Given the description of an element on the screen output the (x, y) to click on. 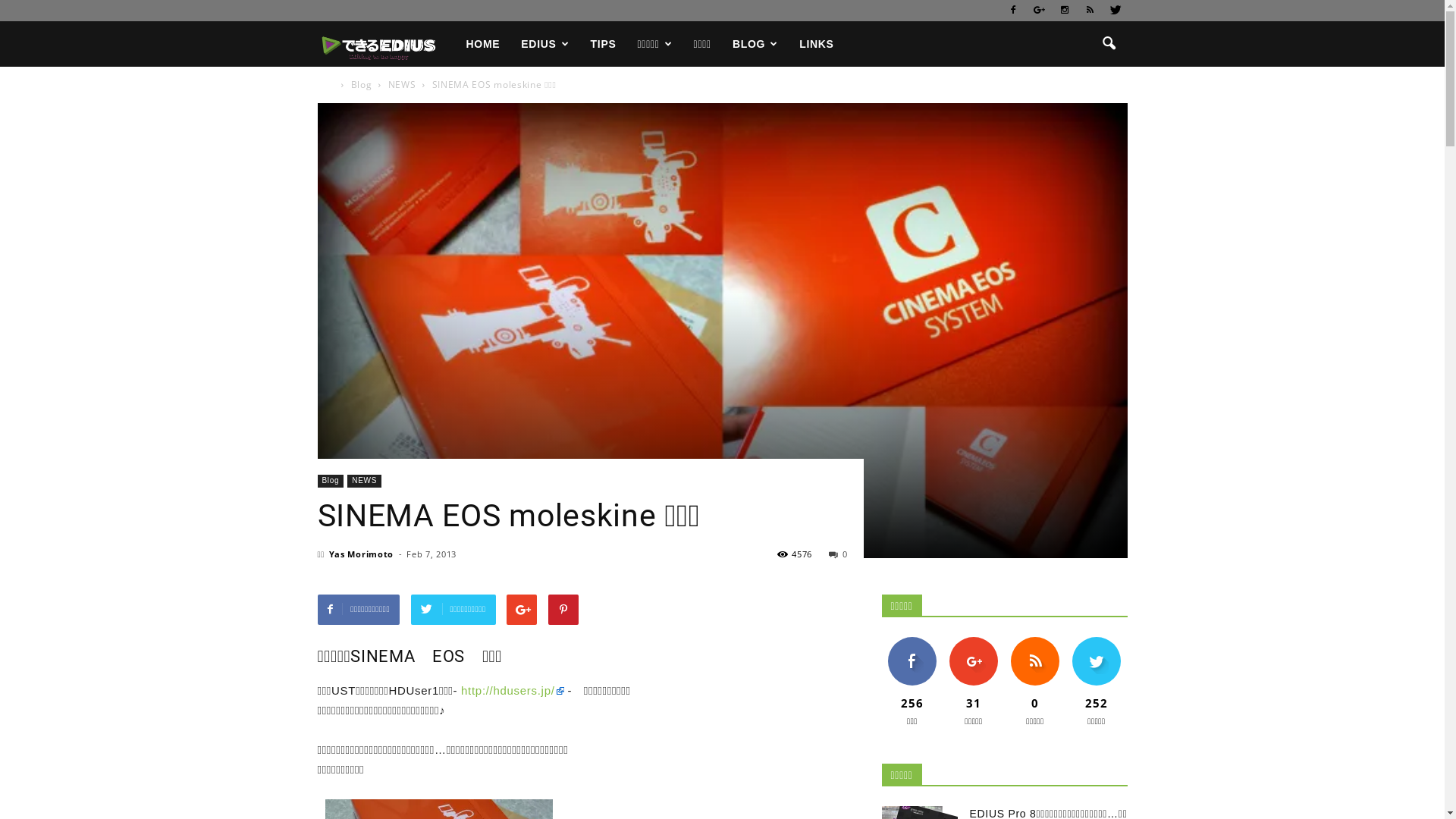
Blog Element type: text (363, 84)
Yas Morimoto Element type: text (361, 553)
NEWS Element type: text (403, 84)
EDIUS Element type: text (544, 43)
Blog Element type: text (329, 480)
NEWS Element type: text (364, 480)
Google+ Element type: hover (1038, 10)
HOME Element type: text (482, 43)
TIPS Element type: text (603, 43)
http://hdusers.jp/ Element type: text (512, 690)
0 Element type: text (837, 553)
Twitter Element type: hover (1115, 10)
LINKS Element type: text (816, 43)
Instagram Element type: hover (1064, 10)
RSS Element type: hover (1090, 10)
BLOG Element type: text (754, 43)
Facebook Element type: hover (1013, 10)
cinemaeosimg Element type: hover (721, 330)
